Given the description of an element on the screen output the (x, y) to click on. 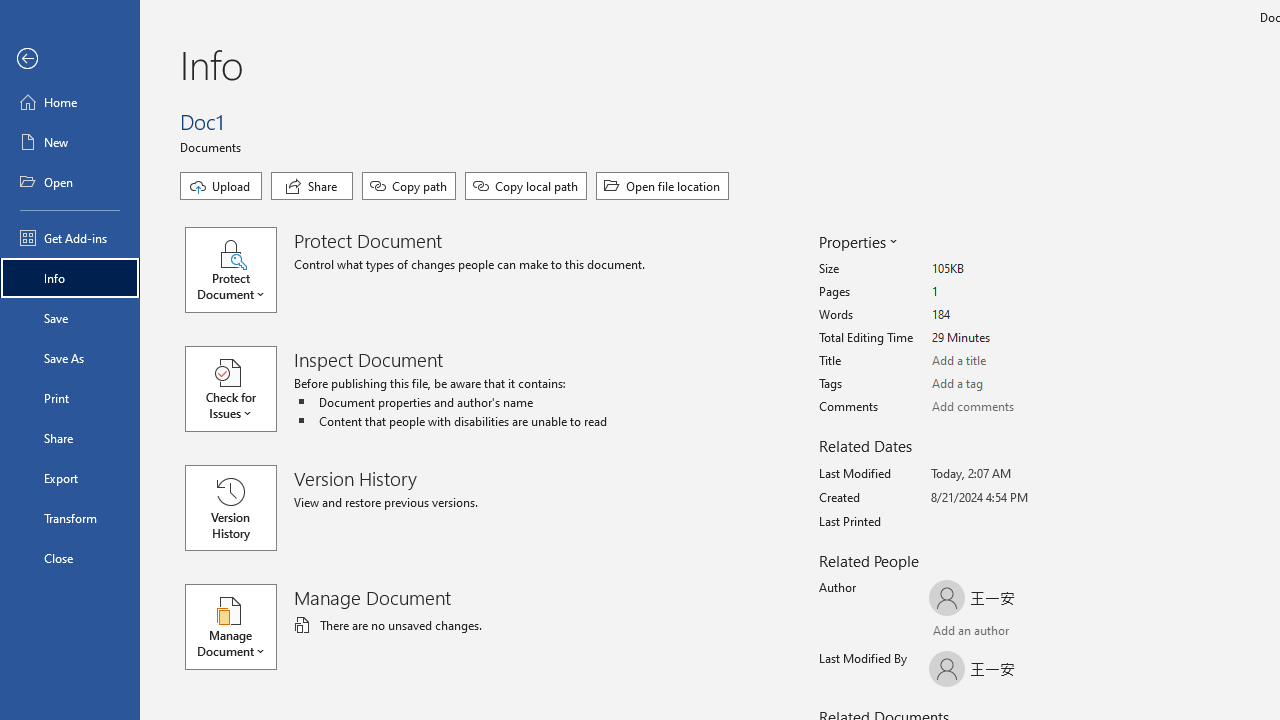
Version History (230, 507)
Check for Issues (239, 389)
Documents (213, 146)
Tags (1006, 384)
Save As (69, 357)
New (69, 141)
Protect Document (239, 269)
Info (69, 277)
Title (1006, 361)
Get Add-ins (69, 237)
Browse Address Book (1047, 633)
Properties (856, 241)
Copy path (408, 186)
